Given the description of an element on the screen output the (x, y) to click on. 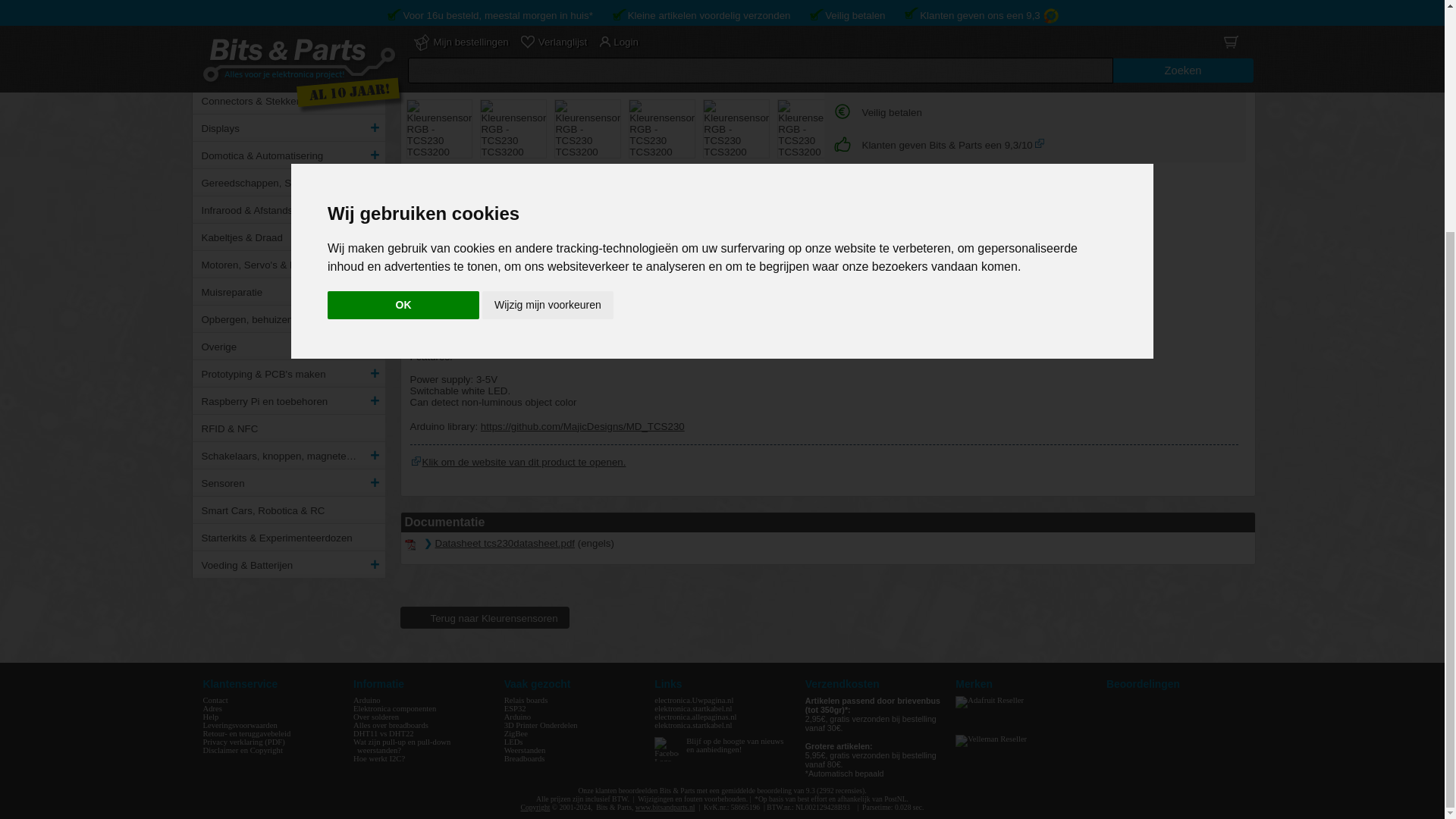
Privacy Verklaring (244, 741)
Wijzig mijn voorkeuren (546, 2)
Contact (215, 700)
Leveringsvoorwaarden (240, 725)
OK (403, 2)
Disclaimer en Copyright (242, 750)
Help topics (211, 716)
Terug naar Kleurensensoren (484, 617)
Klik om de website van dit product te openen. (415, 461)
Link naar Kiyoh (1039, 143)
